Given the description of an element on the screen output the (x, y) to click on. 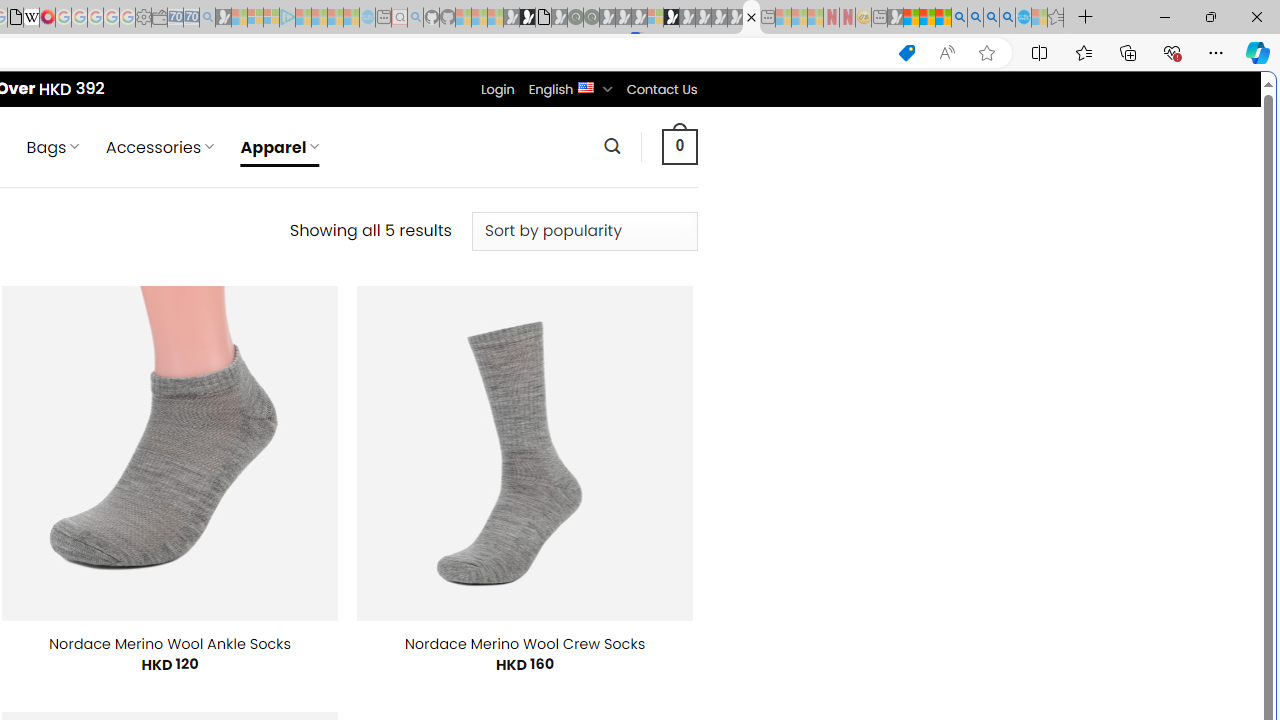
This site has coupons! Shopping in Microsoft Edge (906, 53)
Play Zoo Boom in your browser | Games from Microsoft Start (527, 17)
Home | Sky Blue Bikes - Sky Blue Bikes (687, 426)
Favorites - Sleeping (1055, 17)
MSN - Sleeping (895, 17)
github - Search - Sleeping (415, 17)
Bing Real Estate - Home sales and rental listings - Sleeping (207, 17)
Nordace Merino Wool Ankle Socks (169, 643)
Frequently visited (418, 265)
